Given the description of an element on the screen output the (x, y) to click on. 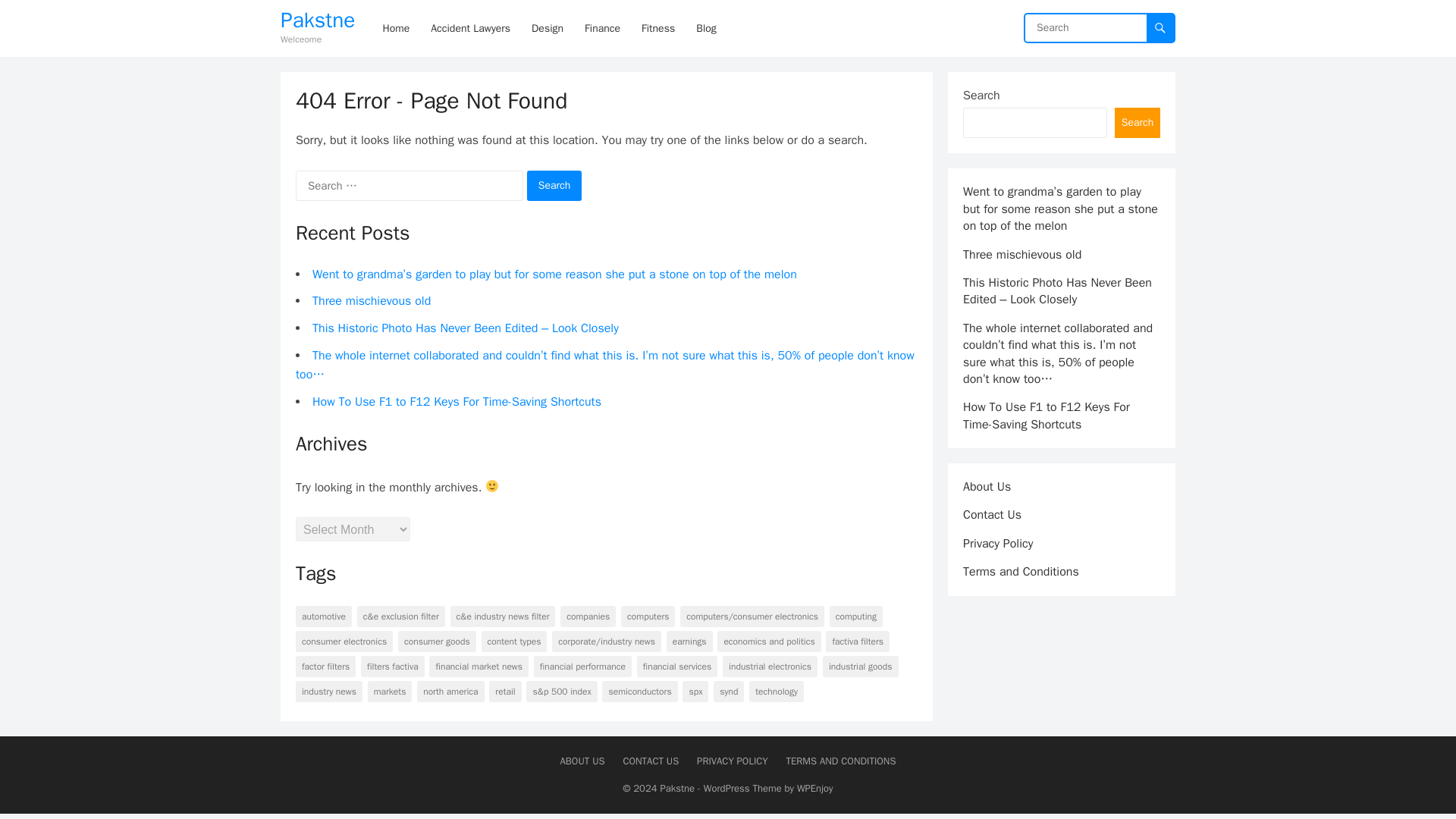
economics and politics (769, 622)
Pakstne (318, 20)
Search (554, 185)
companies (587, 597)
factiva filters (857, 622)
consumer electronics (344, 622)
filters factiva (393, 647)
computers (648, 597)
factor filters (325, 647)
consumer goods (436, 622)
financial market news (478, 647)
automotive (323, 597)
content types (514, 622)
Fitness (657, 28)
